Given the description of an element on the screen output the (x, y) to click on. 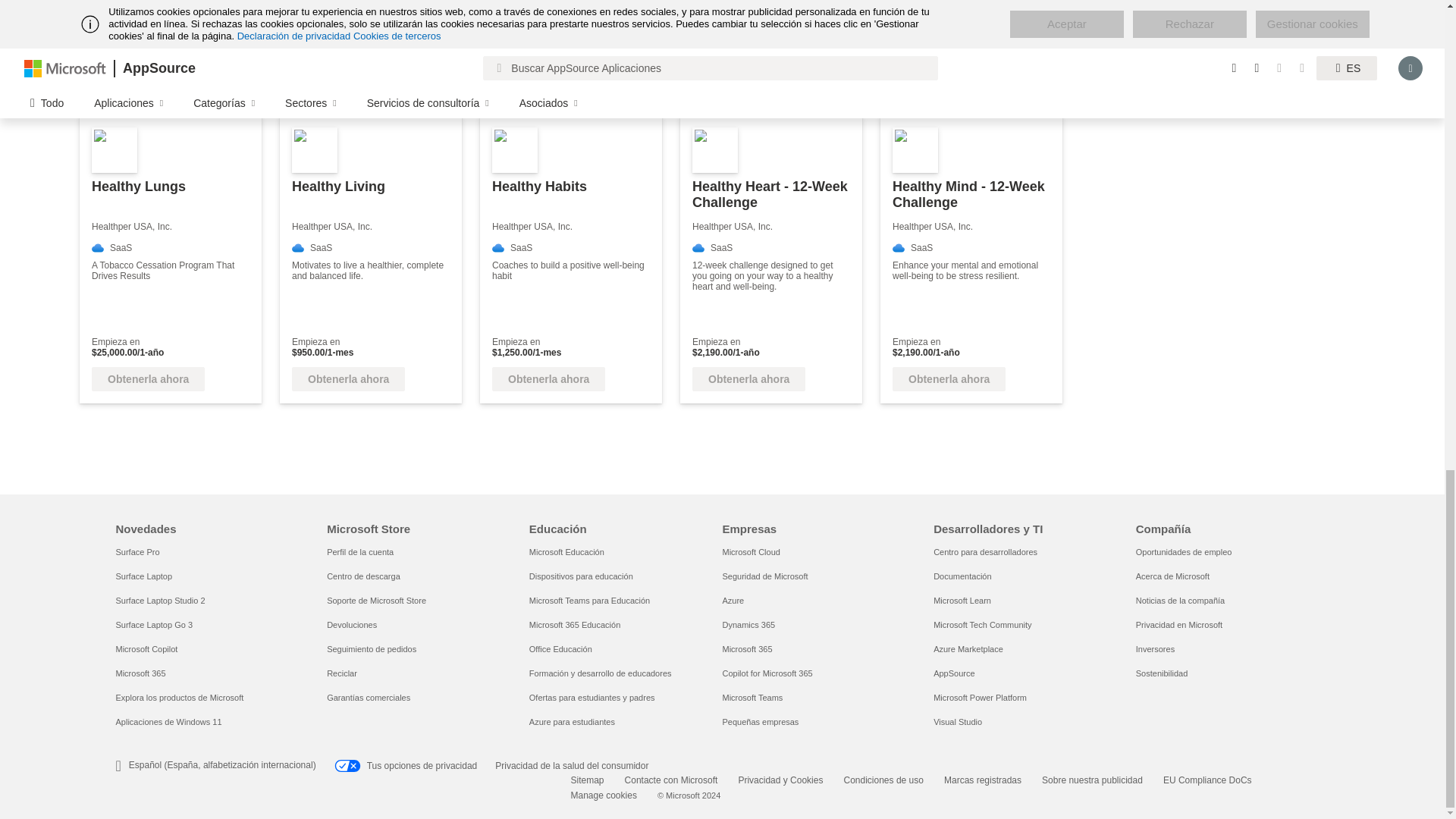
Obtenerla ahora (548, 378)
Obtenerla ahora (148, 378)
Obtenerla ahora (749, 378)
Obtenerla ahora (949, 378)
Obtenerla ahora (348, 378)
Surface Pro (136, 551)
